Given the description of an element on the screen output the (x, y) to click on. 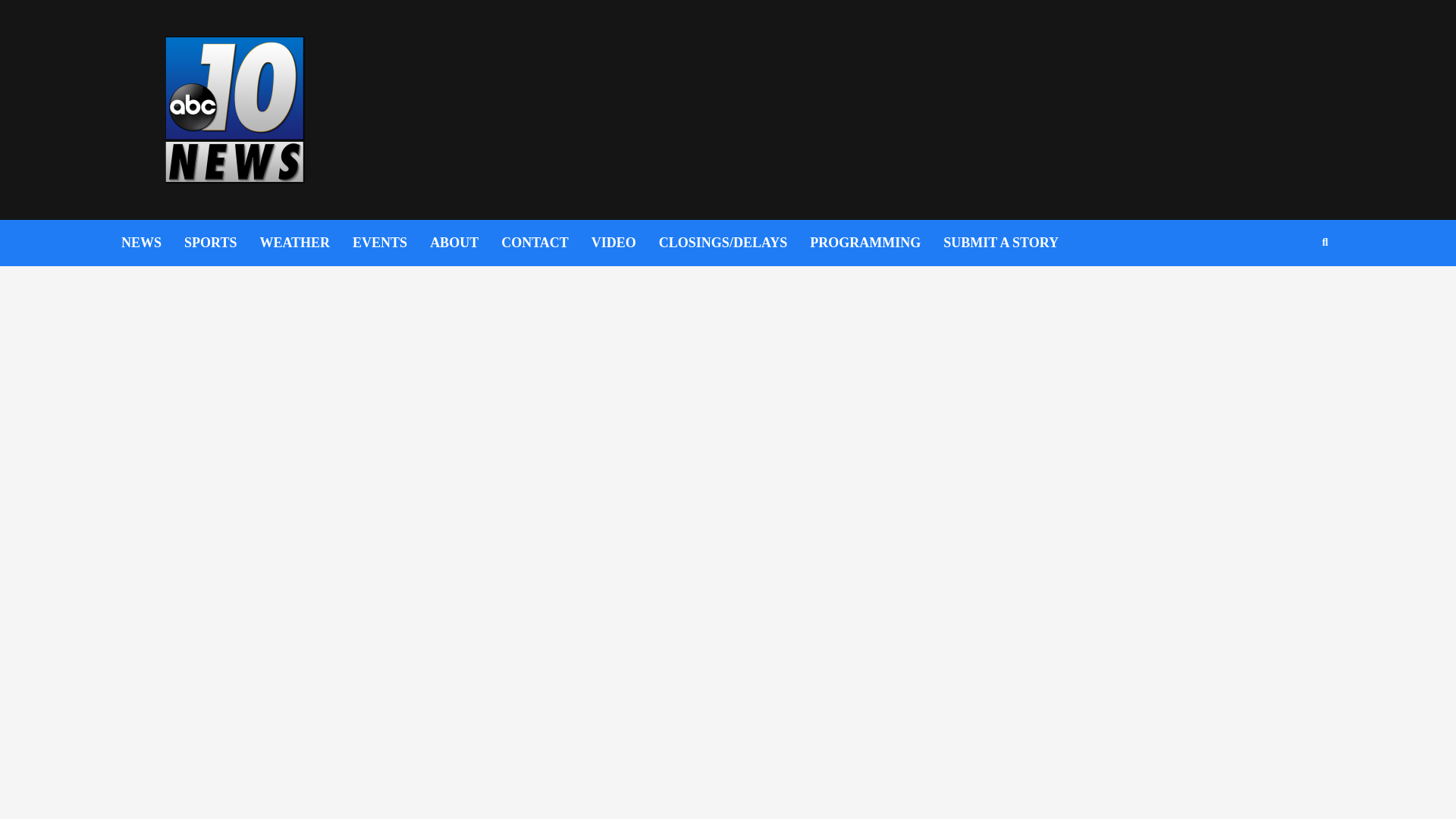
CONTACT (545, 243)
PROGRAMMING (876, 243)
NEWS (152, 243)
WEATHER (305, 243)
ABOUT (464, 243)
SUBMIT A STORY (1012, 243)
Search (1289, 291)
EVENTS (390, 243)
VIDEO (625, 243)
SPORTS (221, 243)
